Given the description of an element on the screen output the (x, y) to click on. 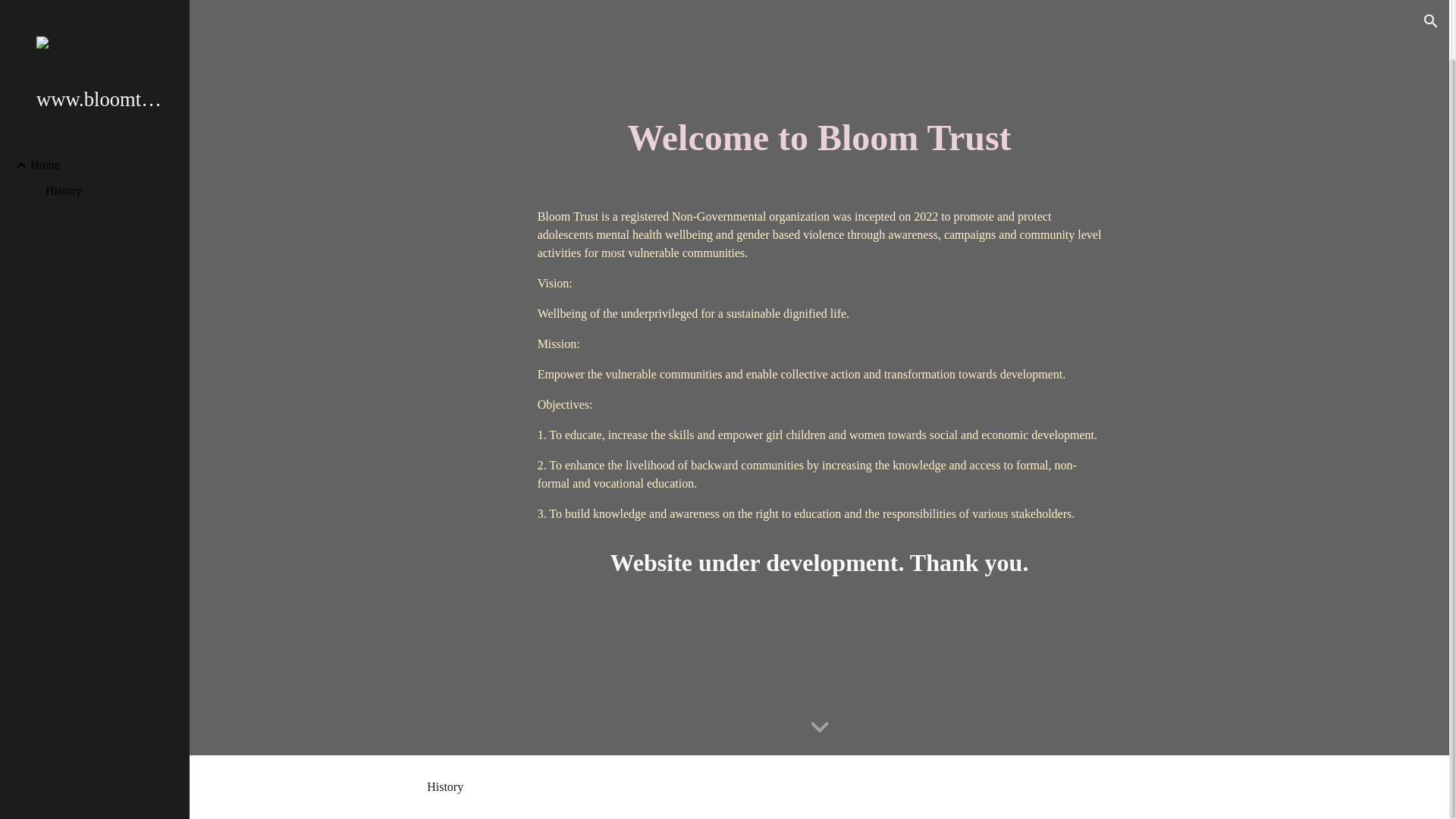
Home (103, 101)
History (111, 127)
History (444, 786)
www.bloomtrust.org (100, 35)
